Given the description of an element on the screen output the (x, y) to click on. 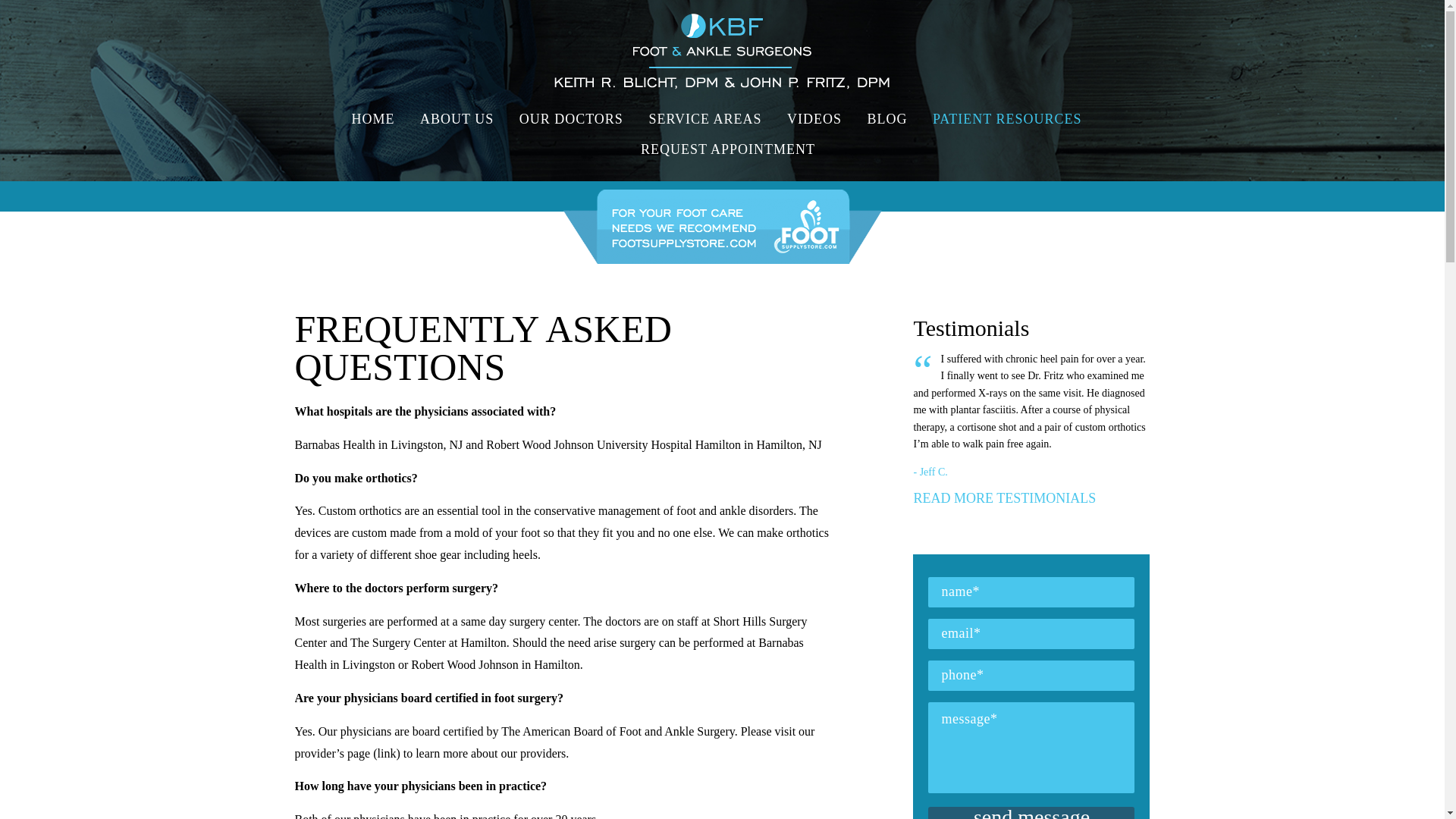
ABOUT US (457, 119)
REQUEST APPOINTMENT (721, 149)
SERVICE AREAS (705, 119)
OUR DOCTORS (571, 119)
VIDEOS (814, 119)
Send Message (1031, 812)
HOME (378, 119)
BLOG (887, 119)
Send Message (1031, 812)
READ MORE TESTIMONIALS (1004, 498)
PATIENT RESOURCES (1007, 119)
